Given the description of an element on the screen output the (x, y) to click on. 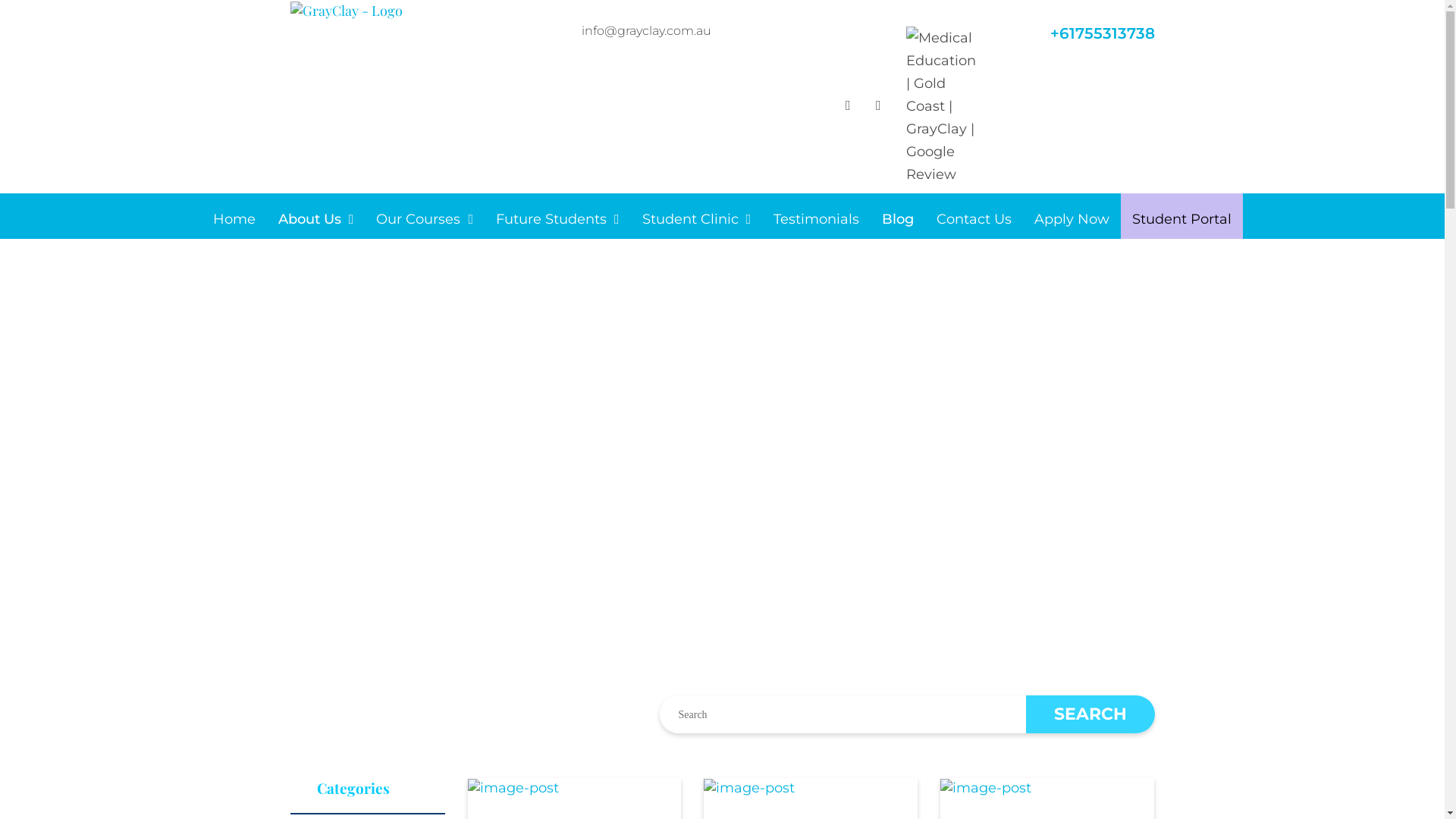
Student Portal Element type: text (1181, 215)
Blog Element type: text (897, 219)
+61755313738 Element type: text (1101, 33)
Apply Now Element type: text (1071, 219)
Contact Us Element type: text (973, 219)
Home Element type: text (233, 219)
Our Courses Element type: text (424, 219)
Testimonials Element type: text (816, 219)
SEARCH Element type: text (1089, 714)
Future Students Element type: text (557, 219)
About Us Element type: text (315, 219)
Student Clinic Element type: text (696, 219)
info@grayclay.com.au Element type: text (645, 30)
